Given the description of an element on the screen output the (x, y) to click on. 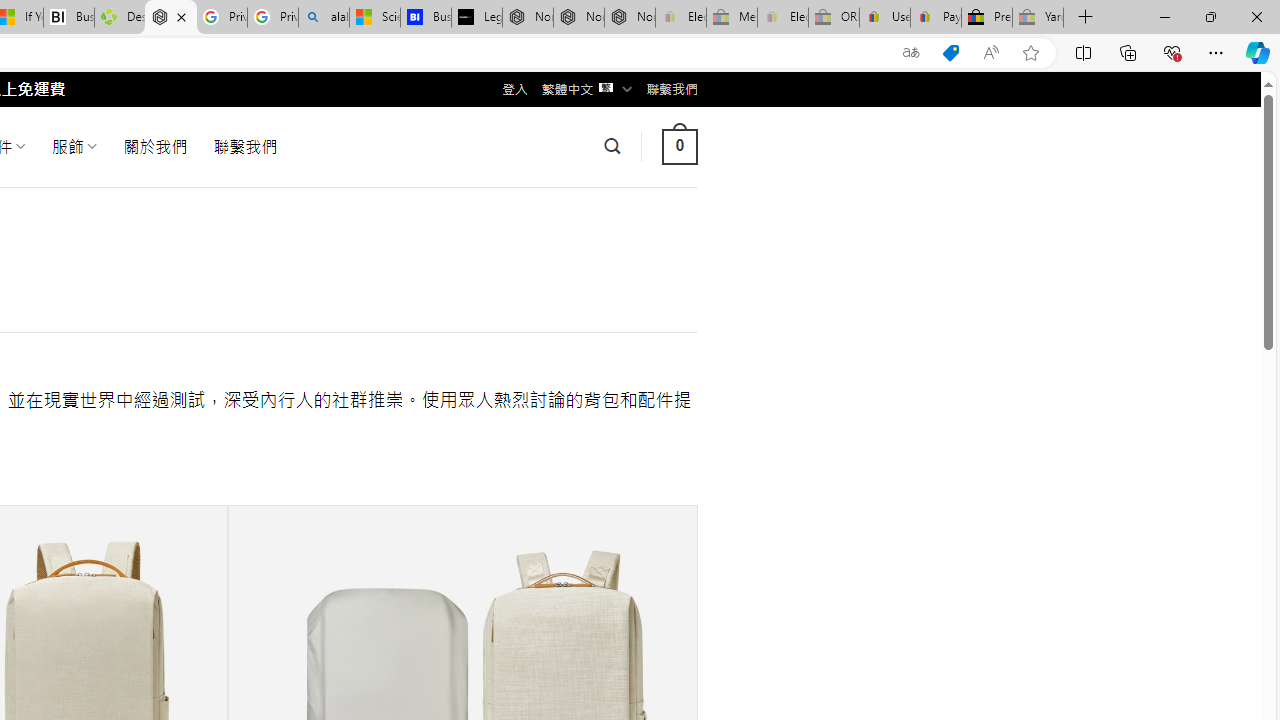
Copilot (Ctrl+Shift+.) (1258, 52)
Minimize (1164, 16)
This site has coupons! Shopping in Microsoft Edge (950, 53)
Yard, Garden & Outdoor Living - Sleeping (1037, 17)
User Privacy Notice | eBay (885, 17)
Add this page to favorites (Ctrl+D) (1030, 53)
Restore (1210, 16)
